Given the description of an element on the screen output the (x, y) to click on. 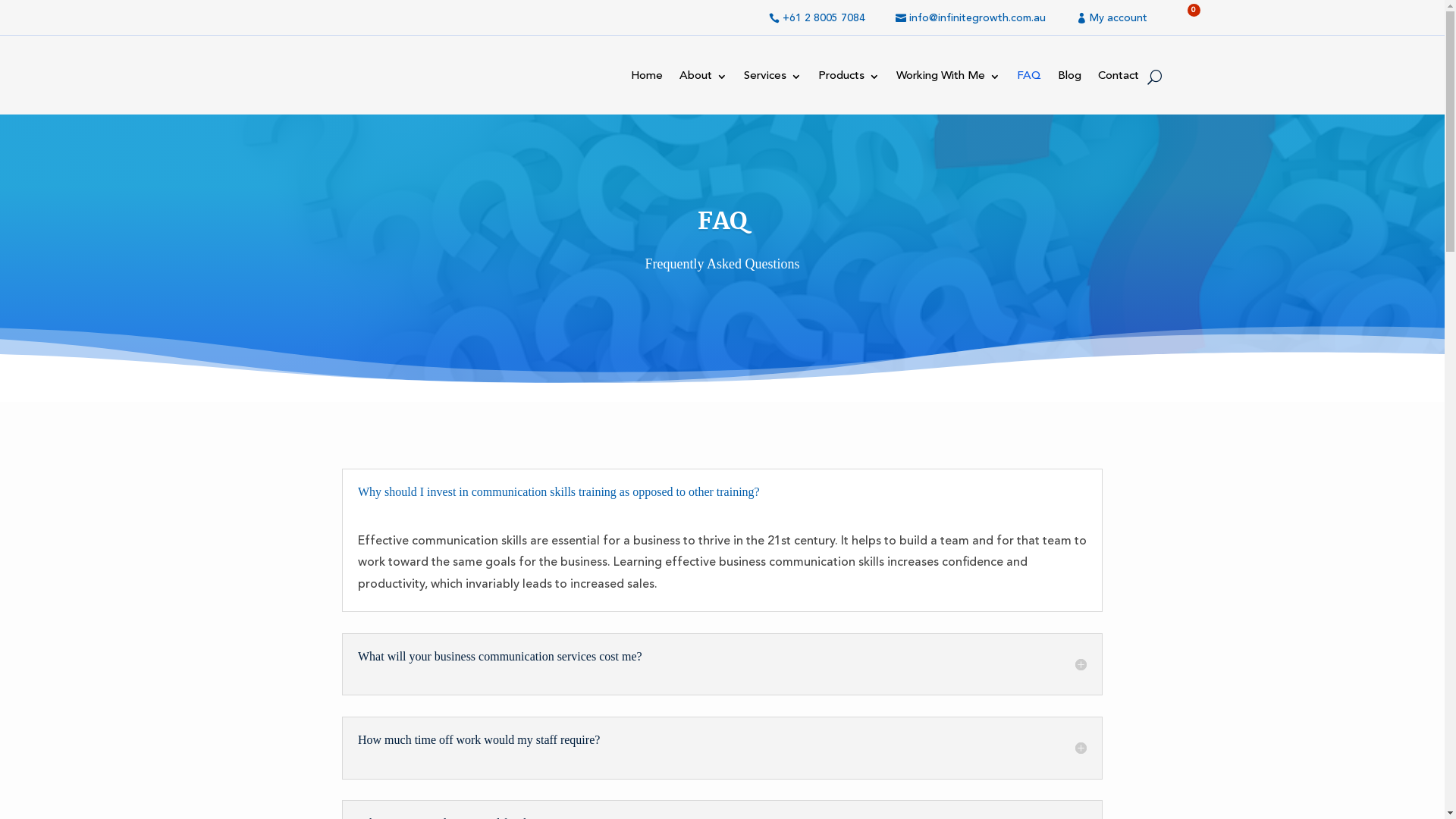
new-logo Element type: hover (339, 76)
+61 2 8005 7084 Element type: text (816, 18)
Working With Me Element type: text (948, 79)
0 Element type: text (1180, 24)
info@infinitegrowth.com.au Element type: text (970, 18)
Blog Element type: text (1068, 79)
Contact Element type: text (1118, 79)
Home Element type: text (646, 79)
FAQ Element type: text (1028, 79)
Services Element type: text (771, 79)
Products Element type: text (847, 79)
My account Element type: text (1111, 18)
About Element type: text (703, 79)
